Given the description of an element on the screen output the (x, y) to click on. 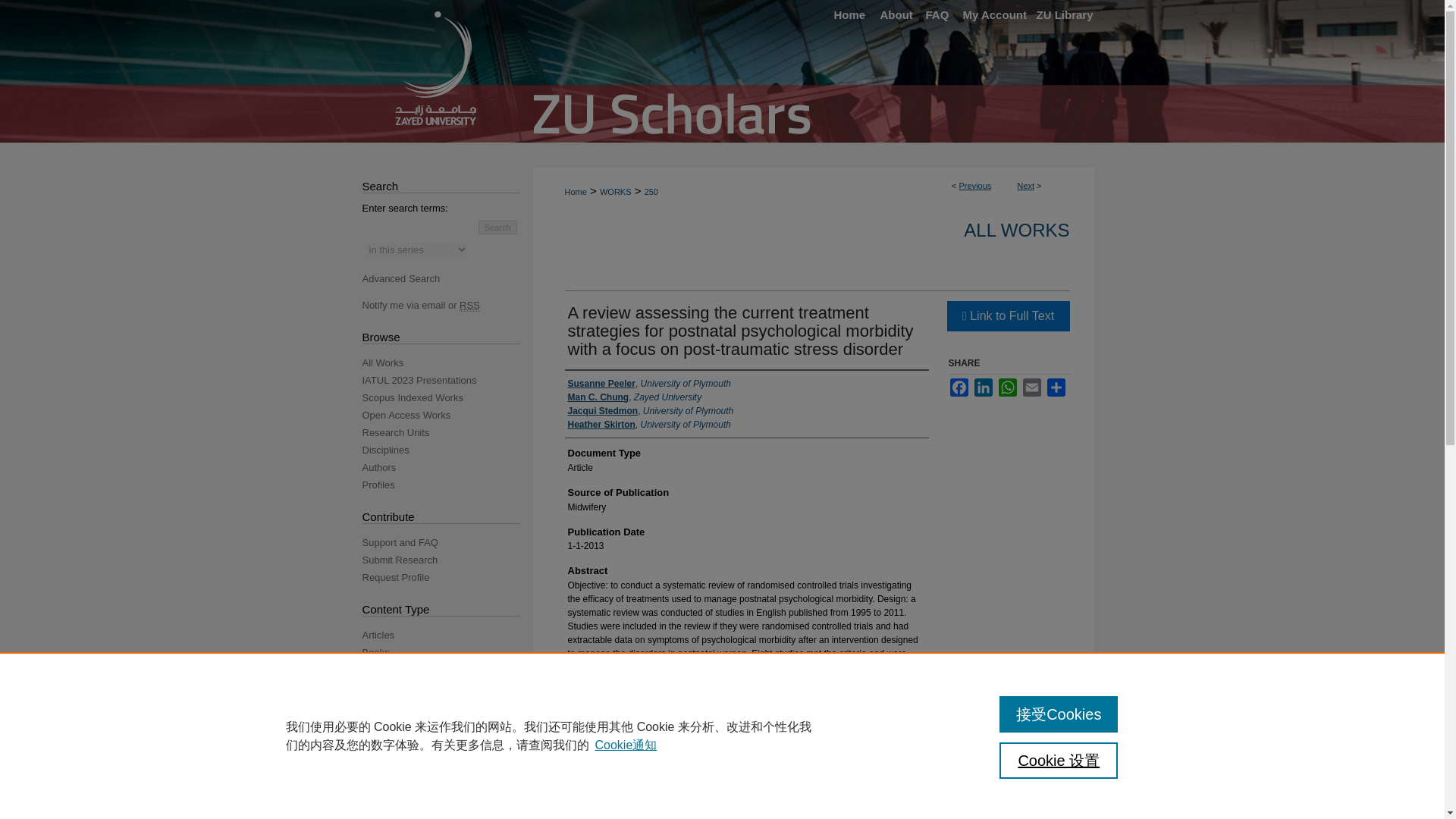
Susanne Peeler, University of Plymouth (648, 383)
Support and FAQ (447, 542)
ZU Library (1060, 15)
Link opens in new window (1007, 316)
Next (1024, 185)
ZU Scholars (721, 71)
Browse by Disciplines (447, 449)
Notify me via email or RSS (447, 305)
Really Simple Syndication (470, 305)
Email (1031, 387)
Browse by Author (447, 467)
Home (847, 15)
Advanced Search (401, 278)
About (894, 15)
Email or RSS Notifications (447, 305)
